Given the description of an element on the screen output the (x, y) to click on. 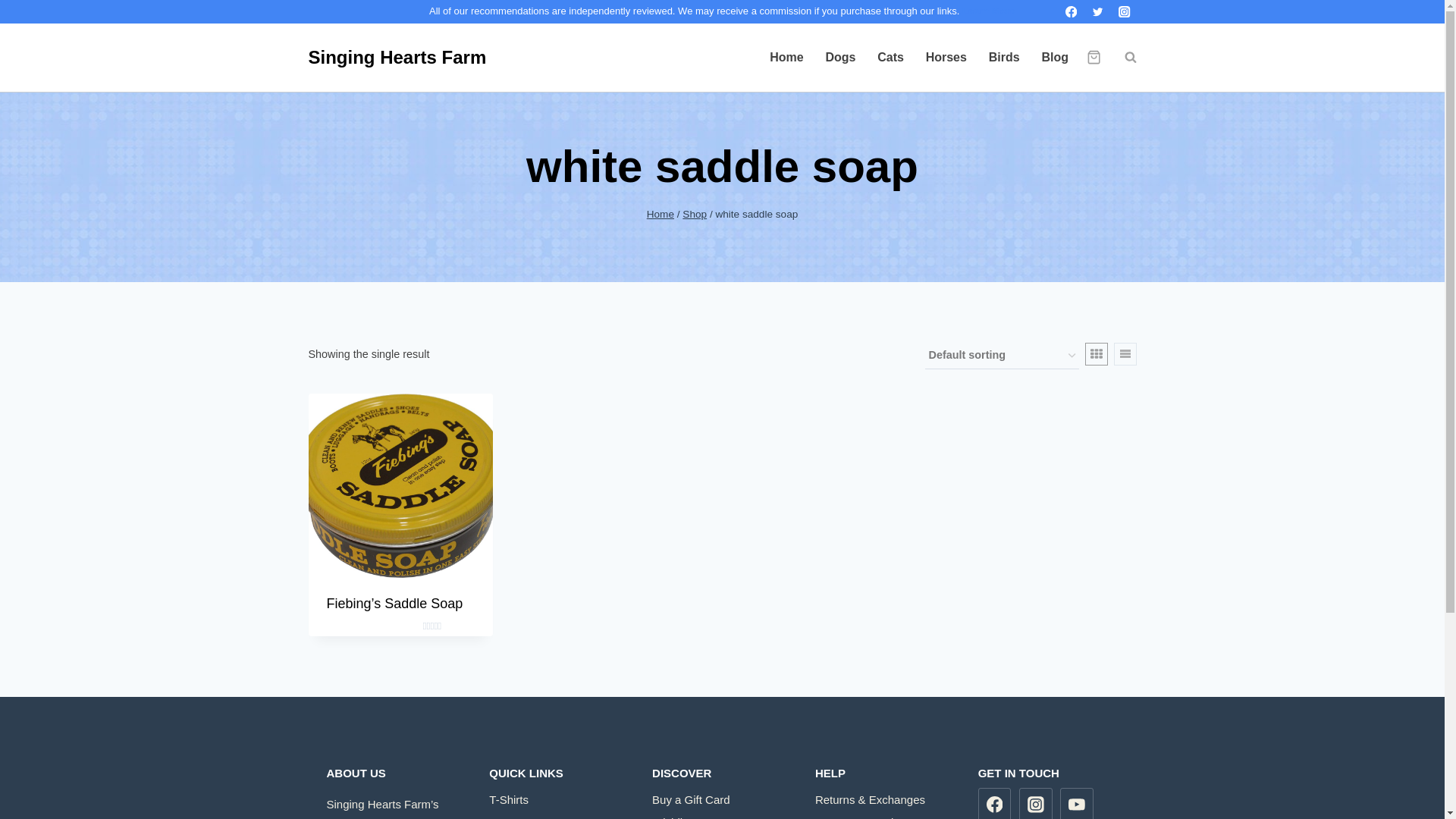
Blog (1054, 57)
Grid View (1095, 354)
List View (1124, 354)
Singing Hearts Farm (396, 57)
Learn More (988, 10)
Home (660, 214)
Horses (945, 57)
Shop (694, 214)
Buy a Gift Card (722, 798)
Cats (890, 57)
